Given the description of an element on the screen output the (x, y) to click on. 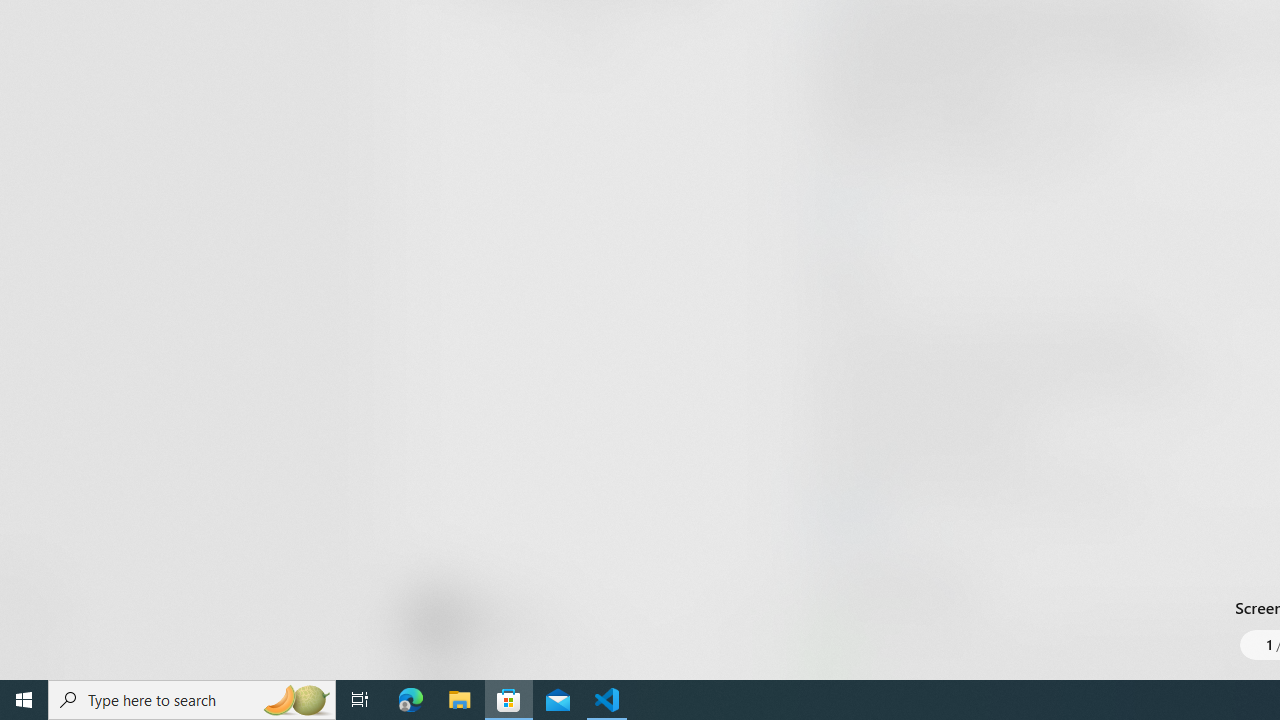
What's New (35, 578)
Show all ratings and reviews (838, 207)
Share (746, 632)
Show more (854, 674)
Age rating: EVERYONE. Click for more information. (506, 619)
Library (35, 640)
Productivity (579, 30)
Show less (850, 518)
